Given the description of an element on the screen output the (x, y) to click on. 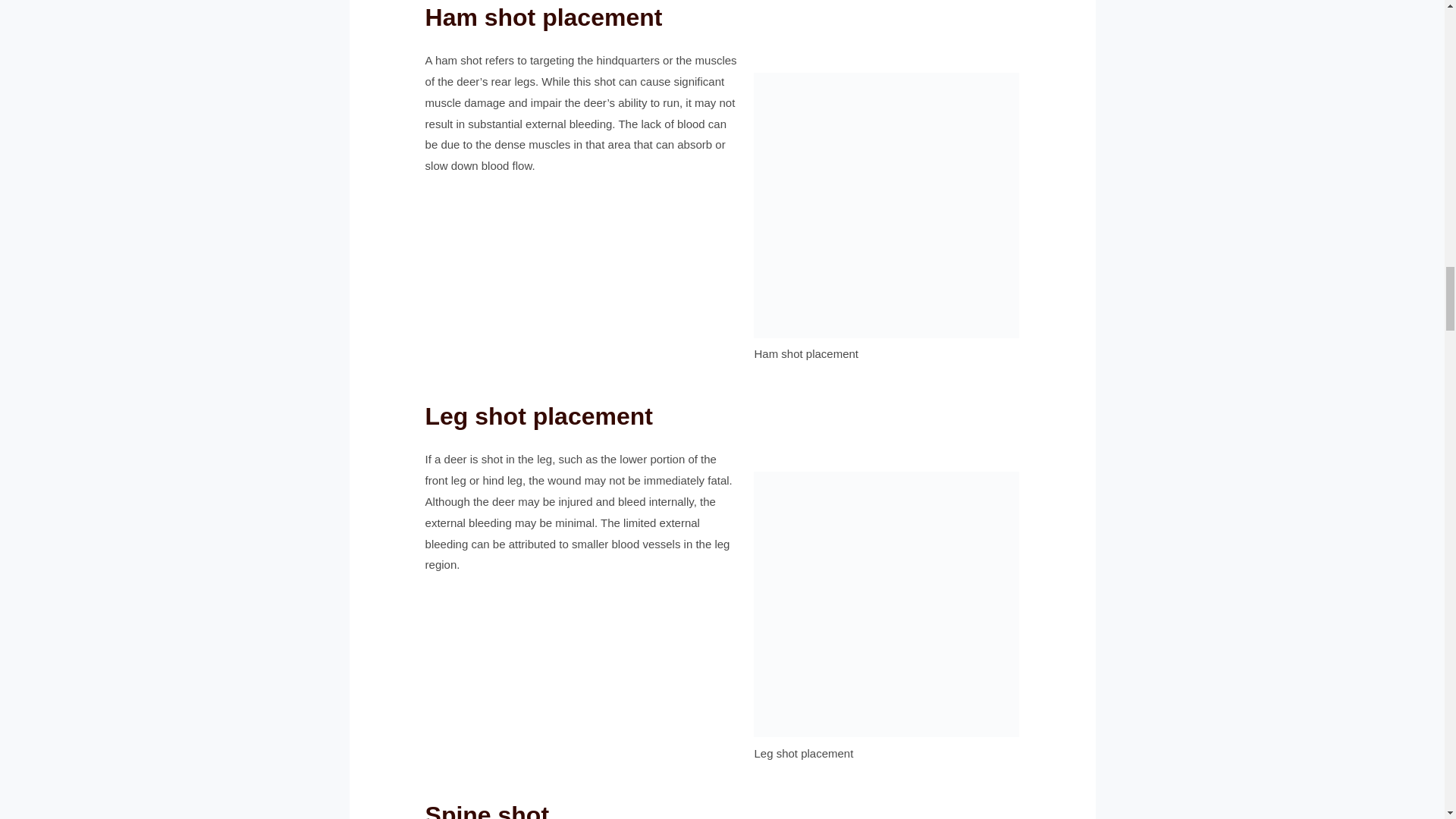
Arrow Stuck In Deer No Blood 6 (886, 604)
Arrow Stuck In Deer No Blood 5 (886, 205)
